Given the description of an element on the screen output the (x, y) to click on. 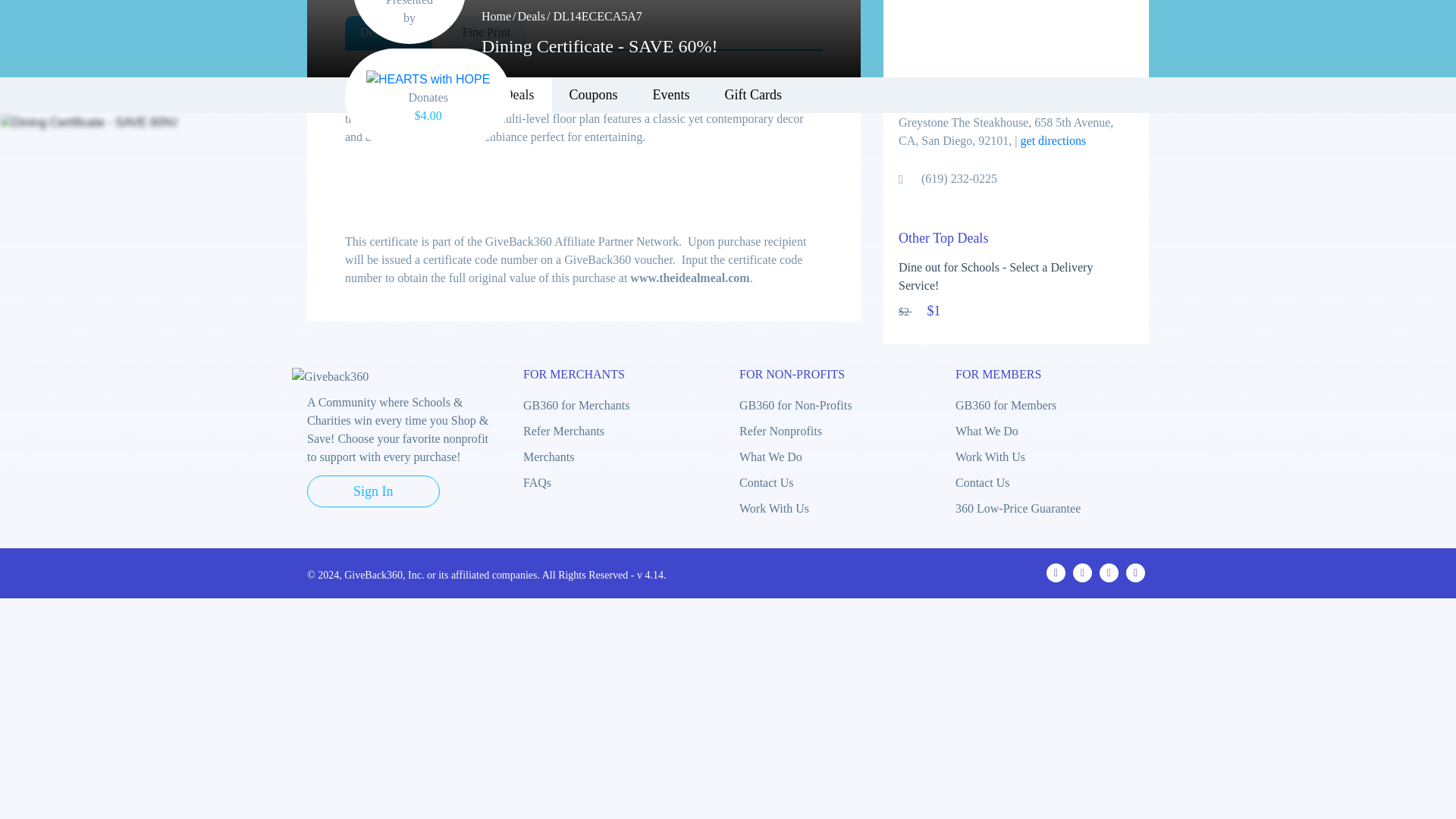
Events (670, 95)
Dine out for Schools - Select a Delivery Service! (1016, 280)
Coupons (592, 95)
Gift Cards (754, 95)
Linkedin (1134, 572)
LOGIN (1111, 38)
Twitter (1082, 572)
Deals (531, 16)
get directions (1053, 140)
Giveback360 (348, 32)
Giveback360 (330, 376)
Deals (518, 95)
Description (388, 32)
Facebook (1055, 572)
Register a code (941, 38)
